Given the description of an element on the screen output the (x, y) to click on. 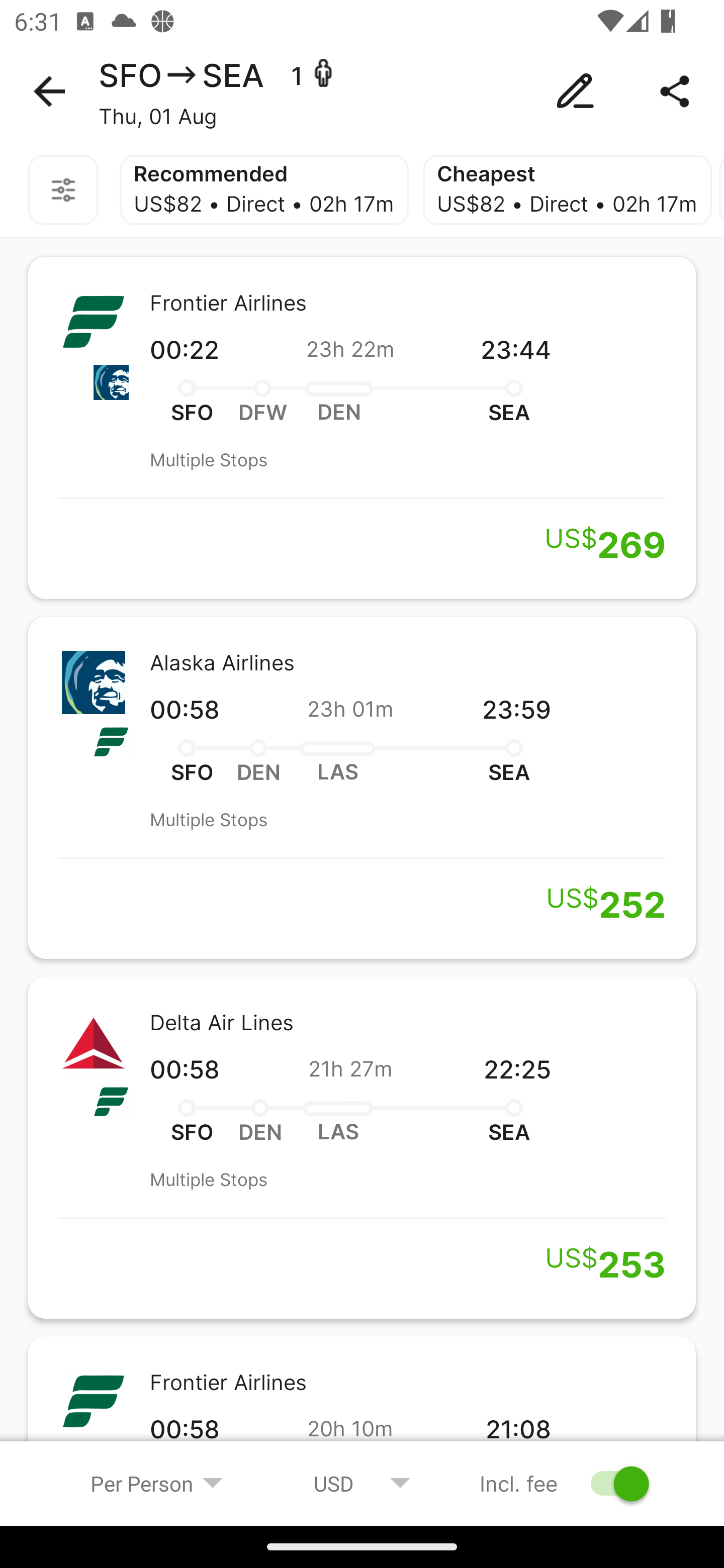
SFO SEA   1 - Thu, 01 Aug (361, 91)
Recommended  US$82 • Direct • 02h 17m (264, 190)
Cheapest US$82 • Direct • 02h 17m (566, 190)
Frontier Airlines 00:58 20h 10m 21:08 SFO DEN SEA (361, 1409)
Per Person (156, 1482)
USD (361, 1482)
